Given the description of an element on the screen output the (x, y) to click on. 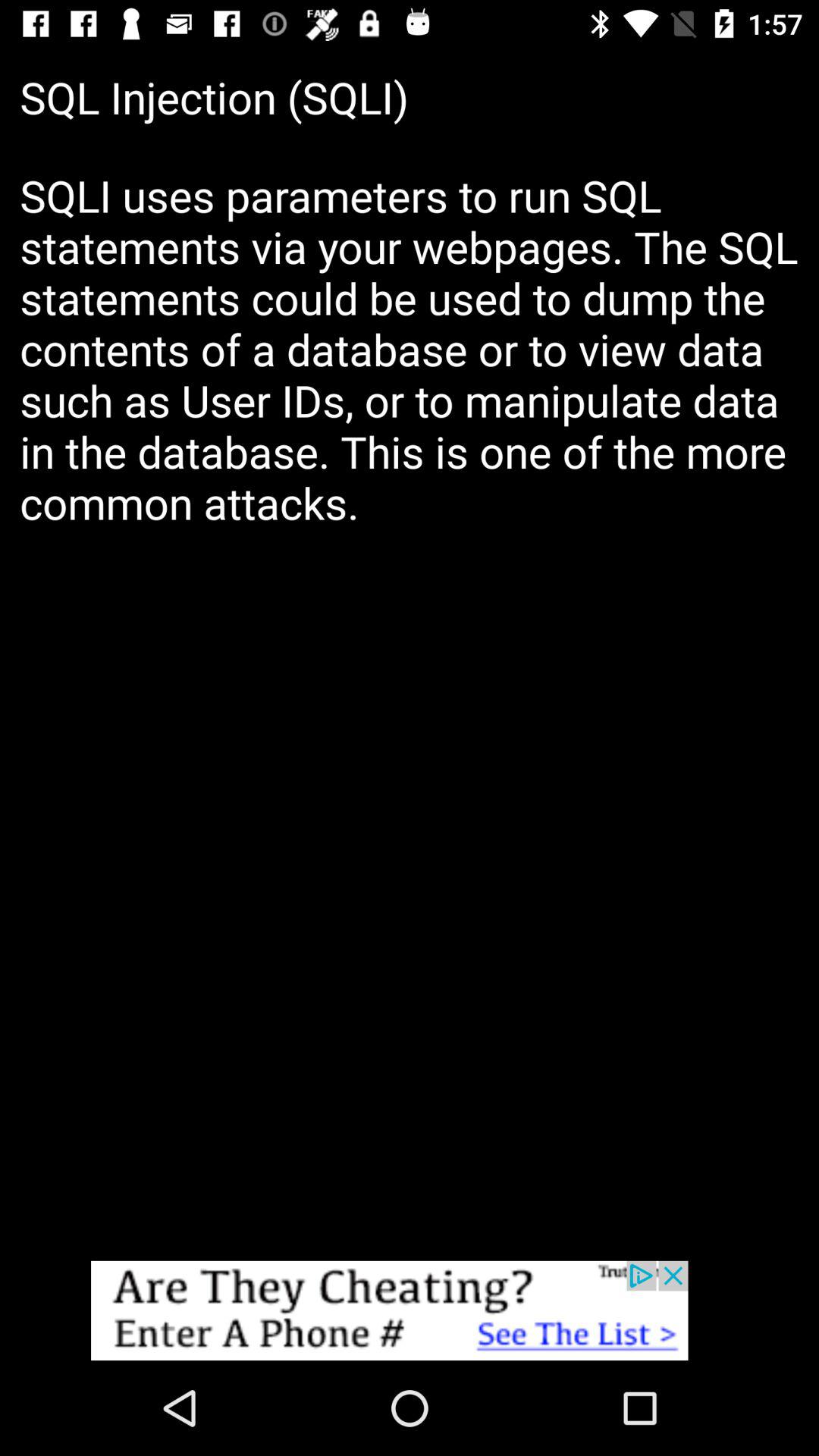
advertiser banner (409, 1310)
